Given the description of an element on the screen output the (x, y) to click on. 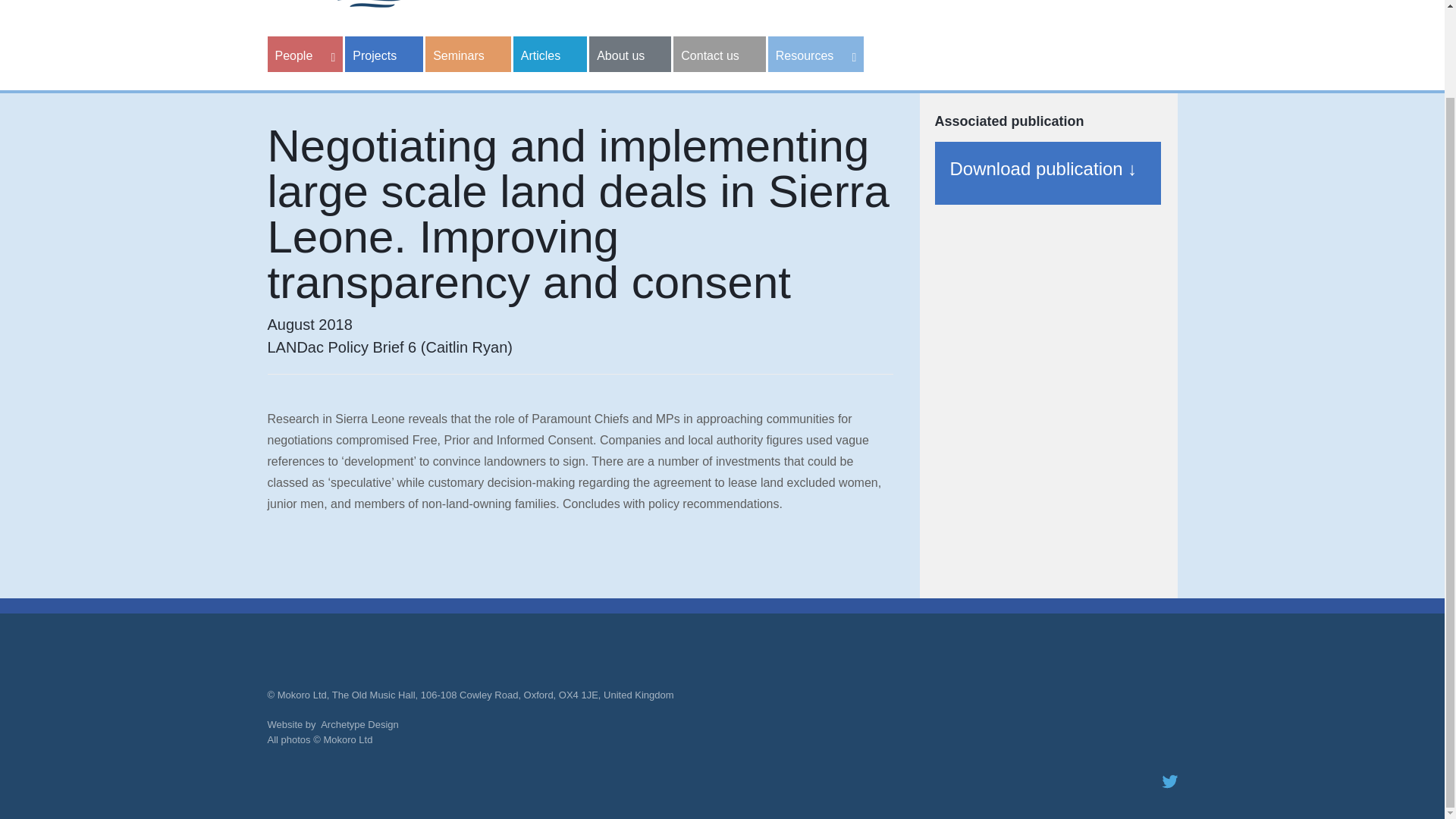
Projects (384, 54)
Mokoro (368, 4)
Articles (549, 54)
Resources (815, 54)
People (304, 54)
Seminars (468, 54)
Contact us (718, 54)
About us (630, 54)
